Given the description of an element on the screen output the (x, y) to click on. 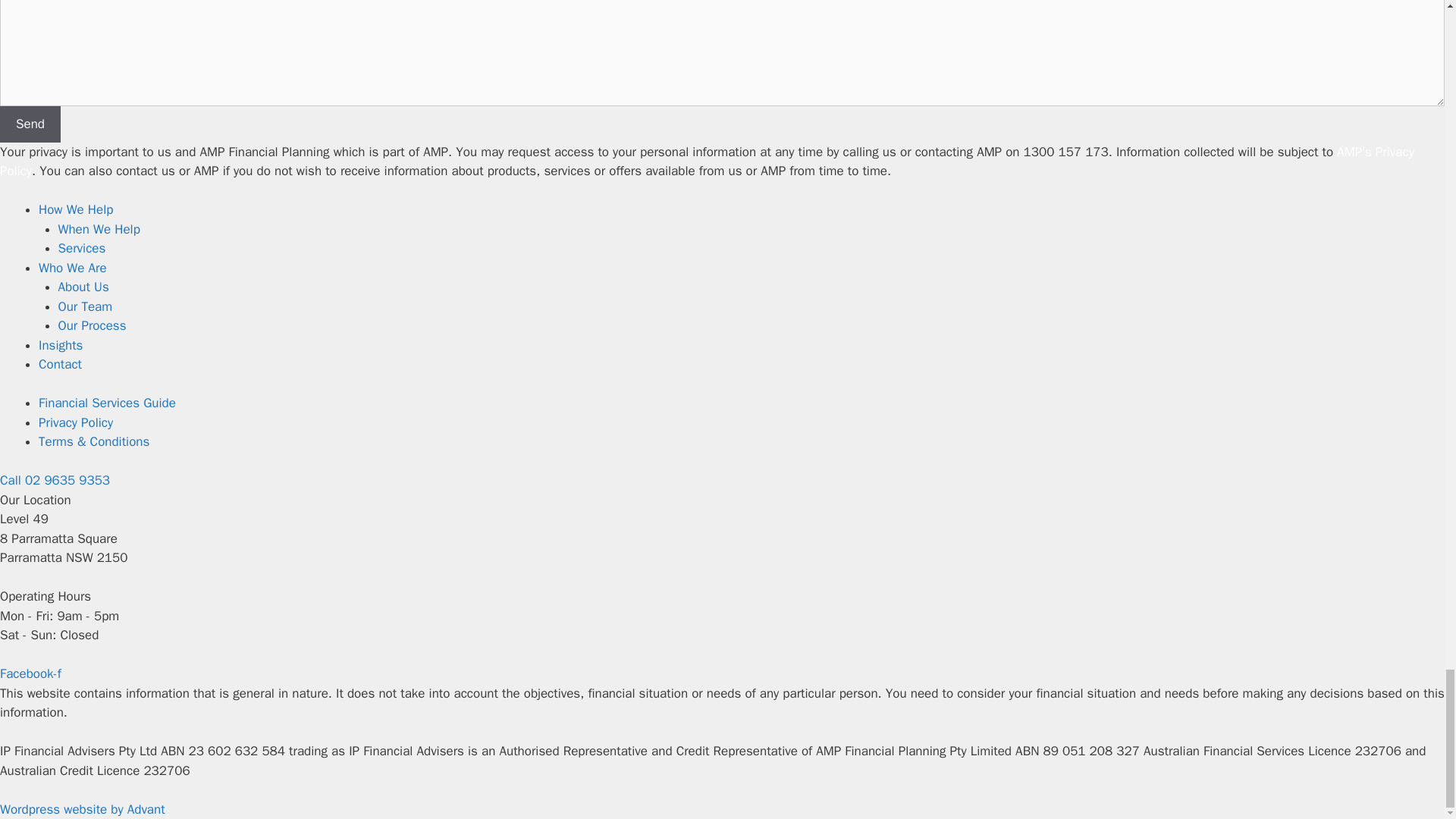
Send (30, 124)
When We Help (98, 229)
Services (81, 248)
How We Help (76, 209)
